Given the description of an element on the screen output the (x, y) to click on. 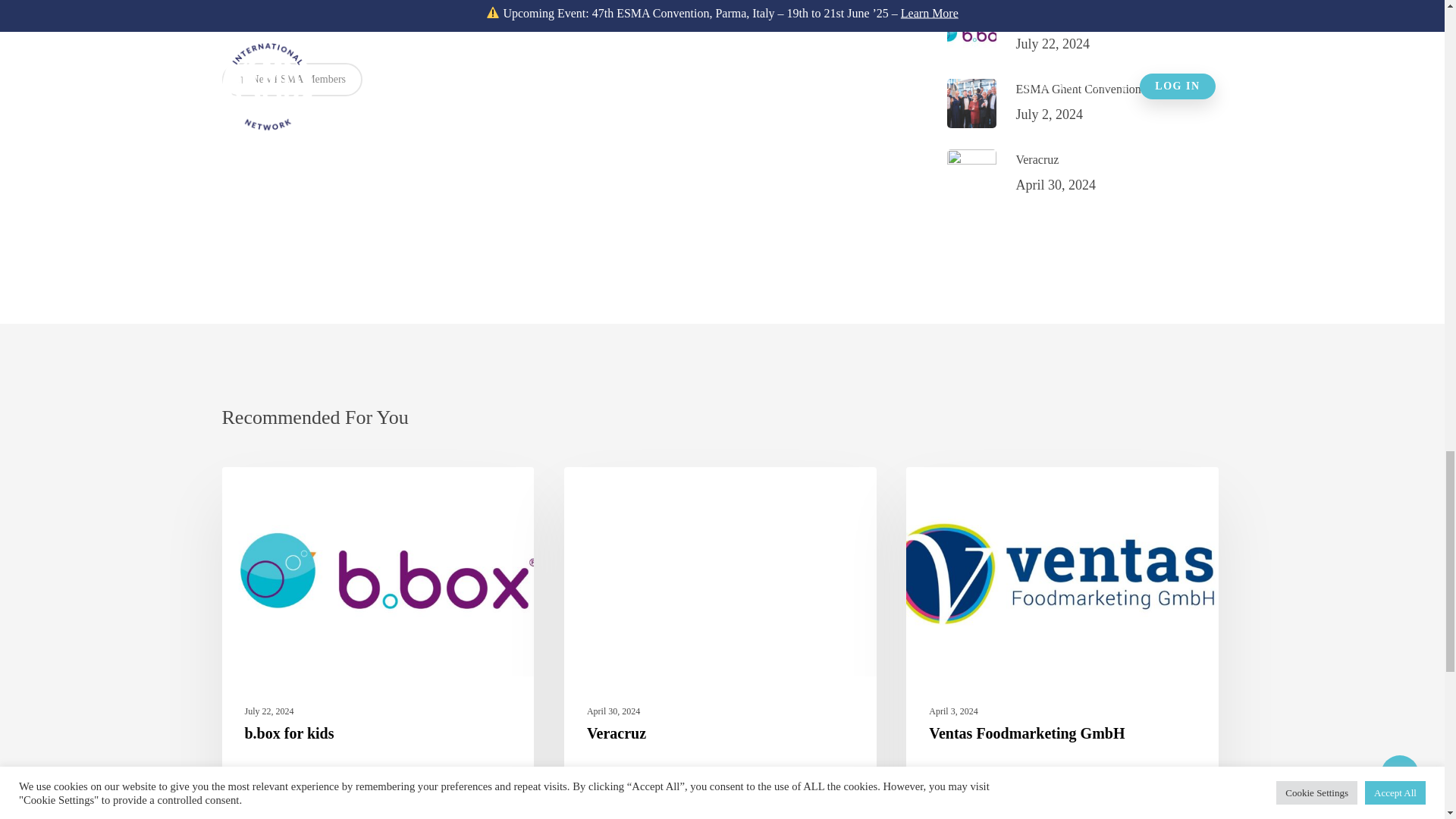
New ESMA Members (1085, 32)
New ESMA Members (641, 491)
New ESMA Members (1085, 102)
